Given the description of an element on the screen output the (x, y) to click on. 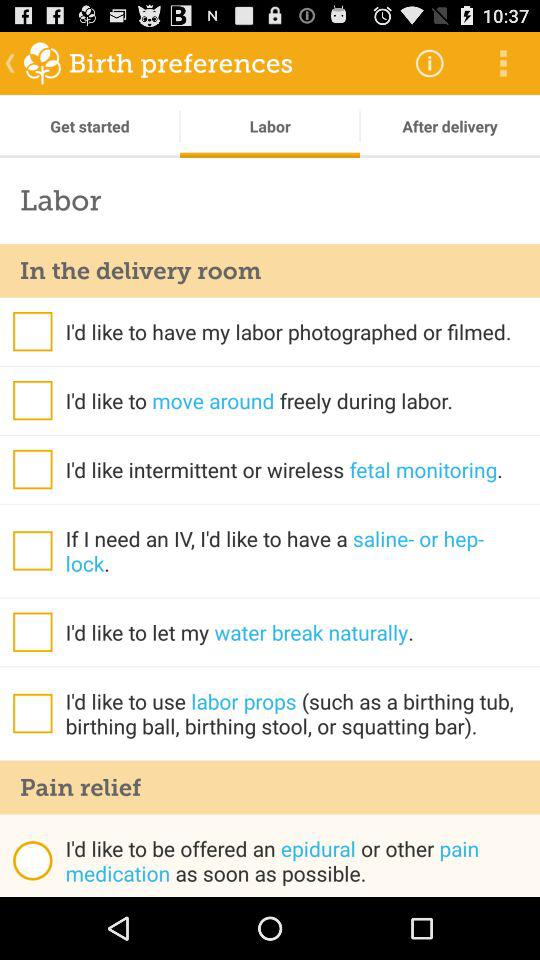
jump to the in the delivery item (270, 270)
